Given the description of an element on the screen output the (x, y) to click on. 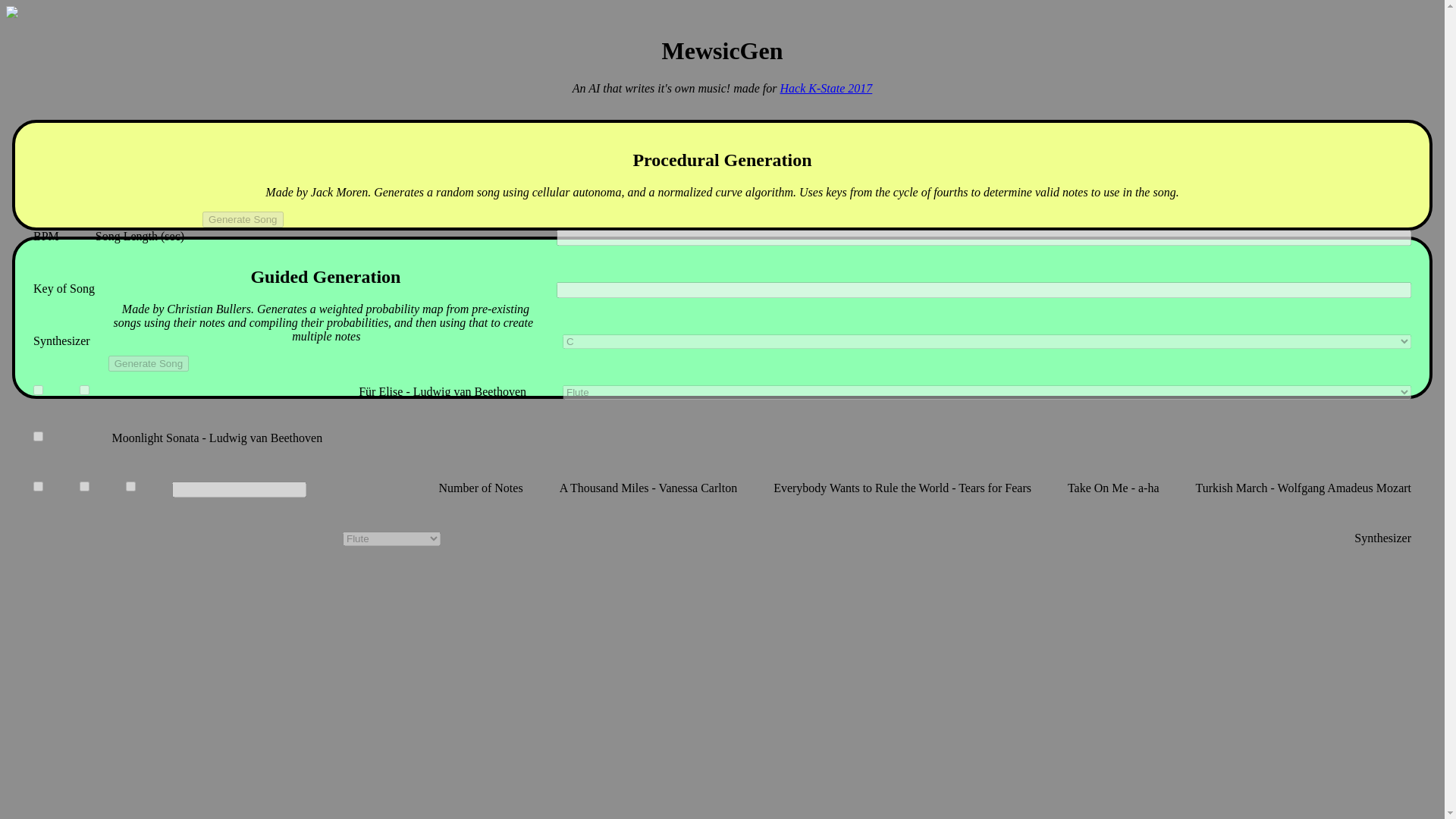
Generate Song (242, 219)
on (38, 486)
on (130, 486)
Generate Song (148, 362)
on (38, 436)
on (84, 486)
Hack K-State 2017 (826, 88)
on (84, 389)
on (38, 389)
